Given the description of an element on the screen output the (x, y) to click on. 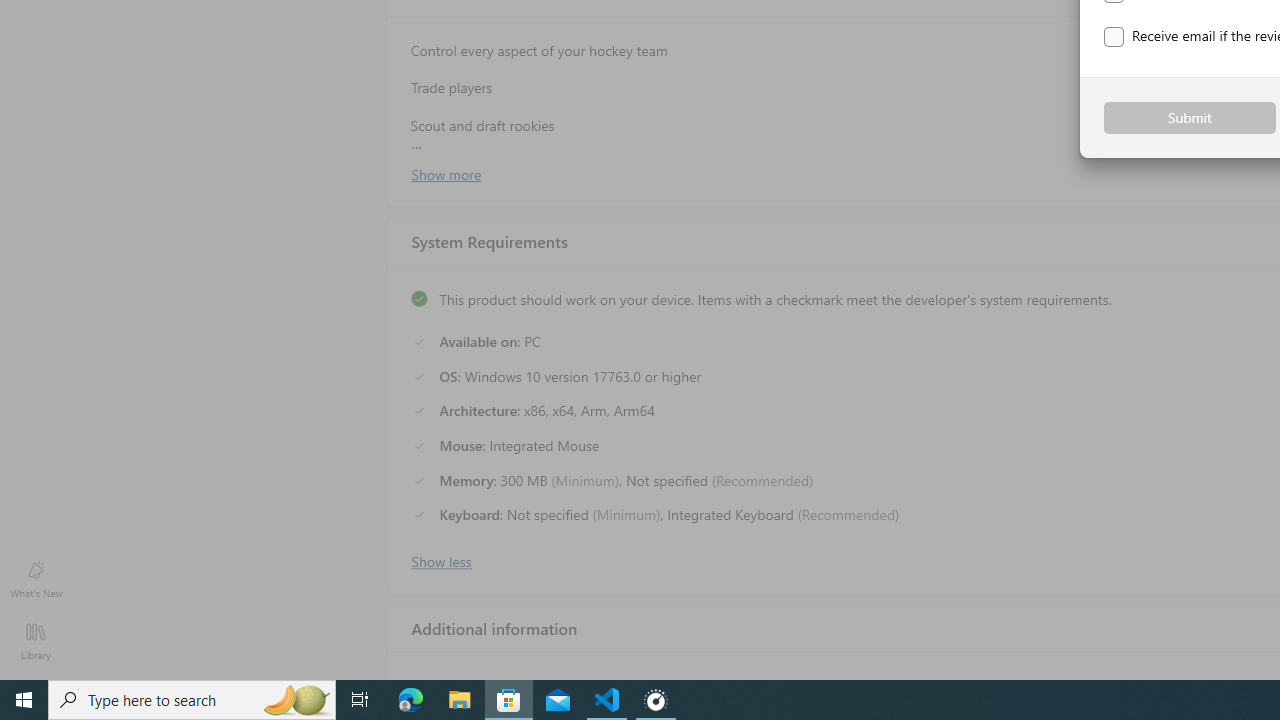
Show more (445, 173)
Library (35, 640)
Show less (440, 559)
Submit (1189, 117)
What's New (35, 578)
